Given the description of an element on the screen output the (x, y) to click on. 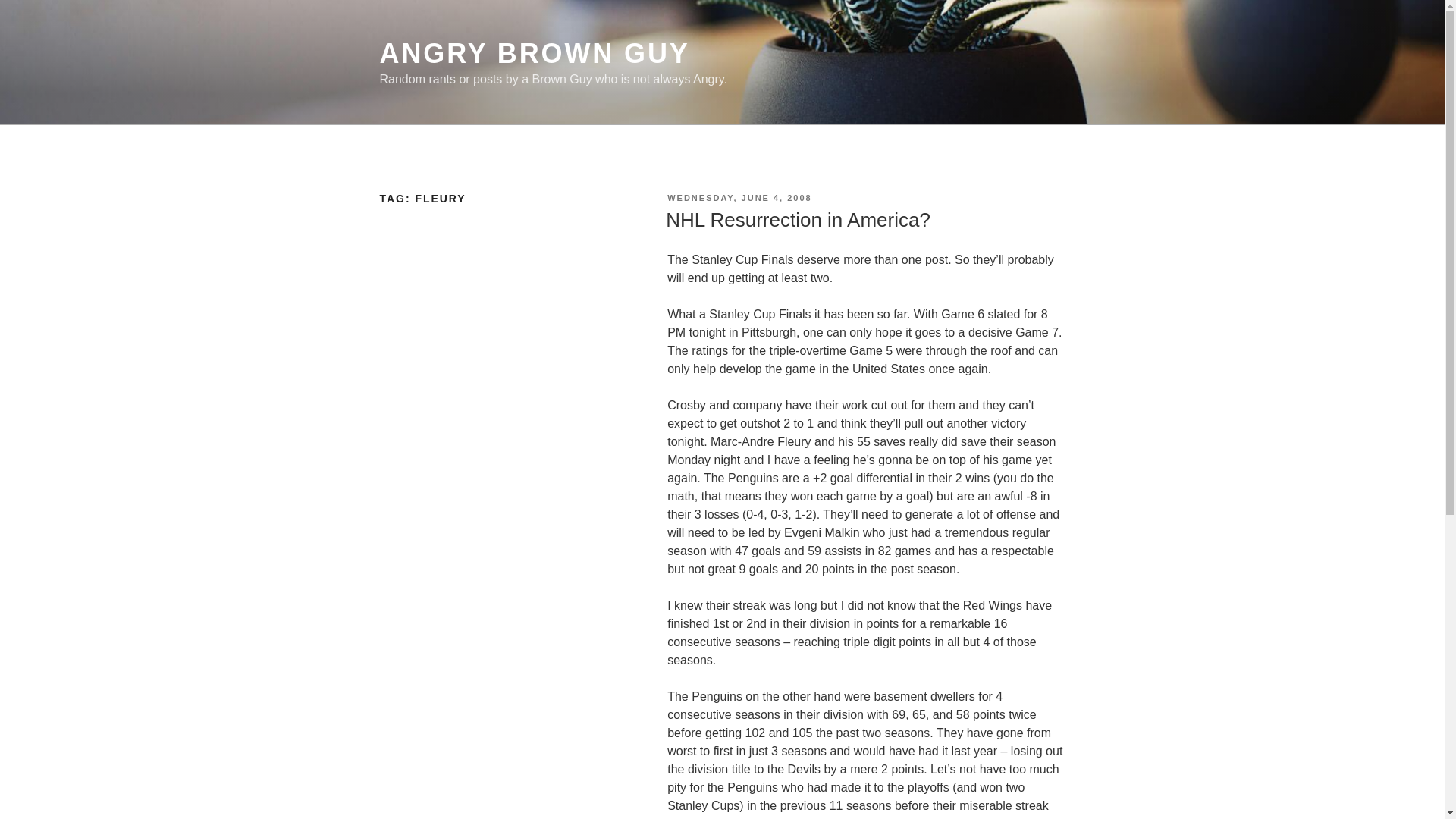
NHL Resurrection in America? (797, 219)
ANGRY BROWN GUY (533, 52)
WEDNESDAY, JUNE 4, 2008 (738, 197)
